Given the description of an element on the screen output the (x, y) to click on. 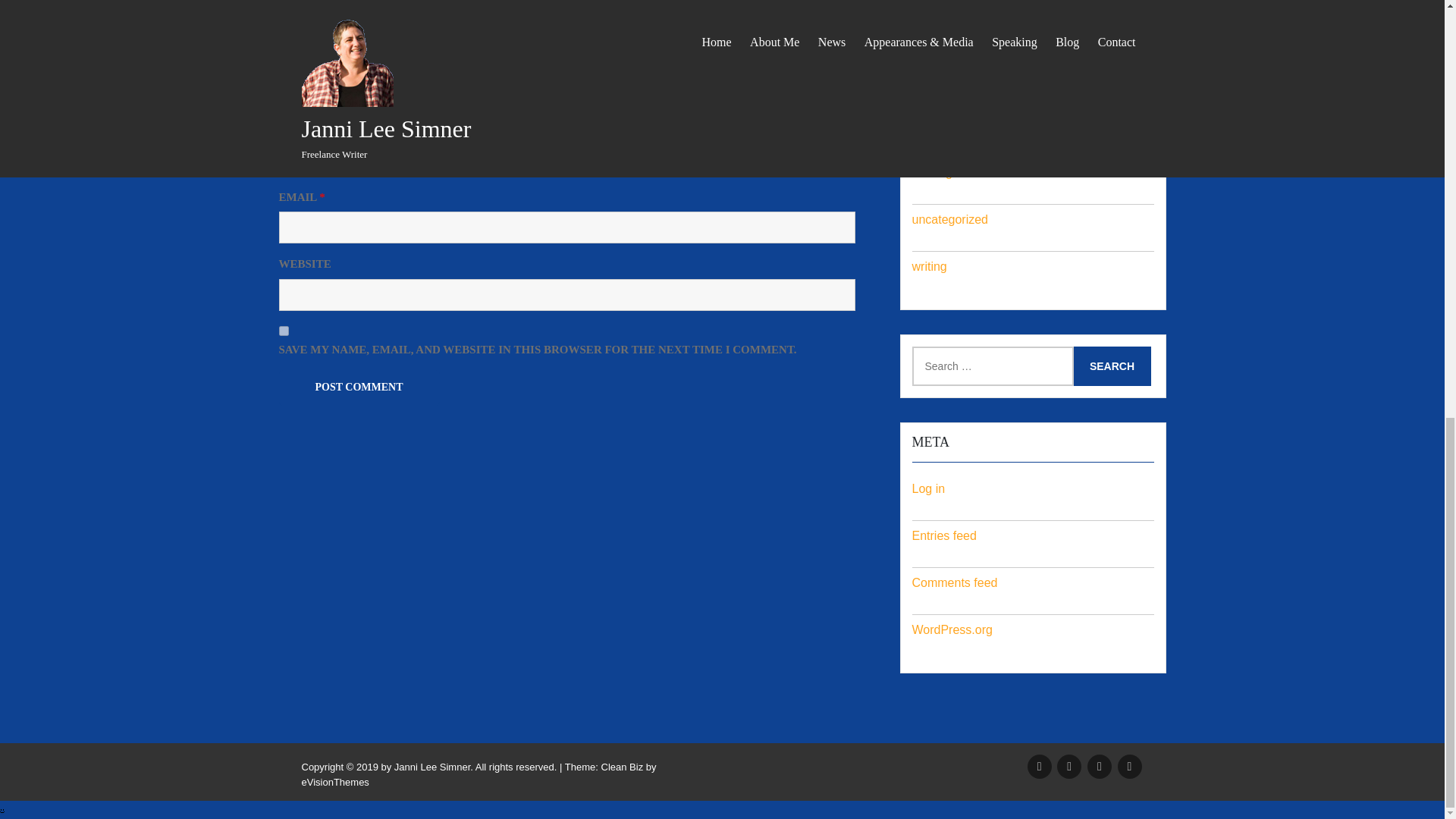
Post Comment (359, 387)
uncategorized (949, 219)
yes (283, 330)
Search (1112, 365)
reading (931, 172)
general (931, 78)
Search (1112, 365)
writing (928, 266)
Search (1112, 365)
news (925, 124)
Post Comment (359, 387)
